Given the description of an element on the screen output the (x, y) to click on. 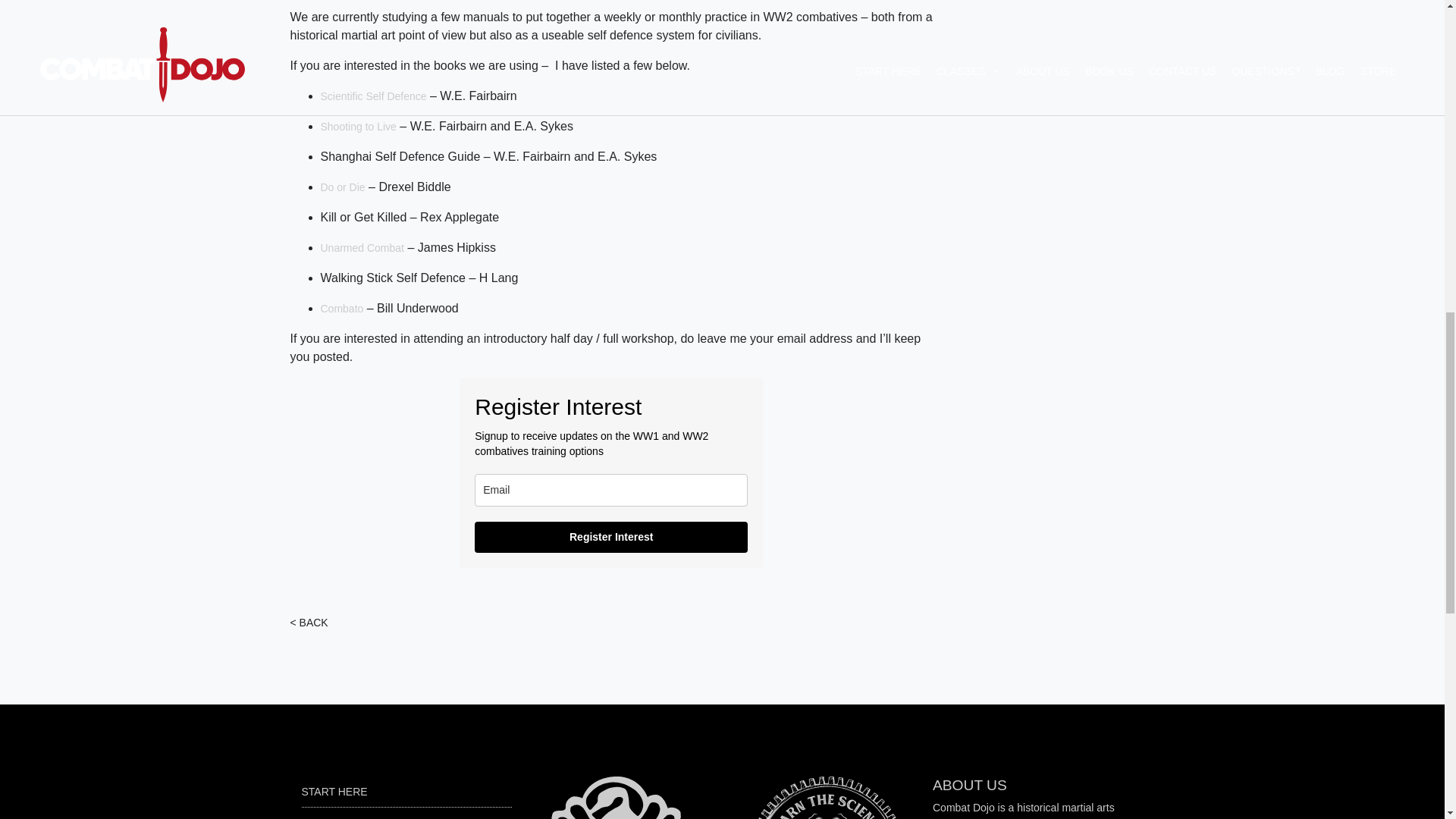
Combato (341, 308)
Do or Die (342, 186)
Unarmed Combat (362, 247)
Register Interest (611, 536)
Shooting to Live (358, 126)
IAIJUTSU (325, 817)
START HERE (334, 791)
Scientific Self Defence (373, 96)
